Given the description of an element on the screen output the (x, y) to click on. 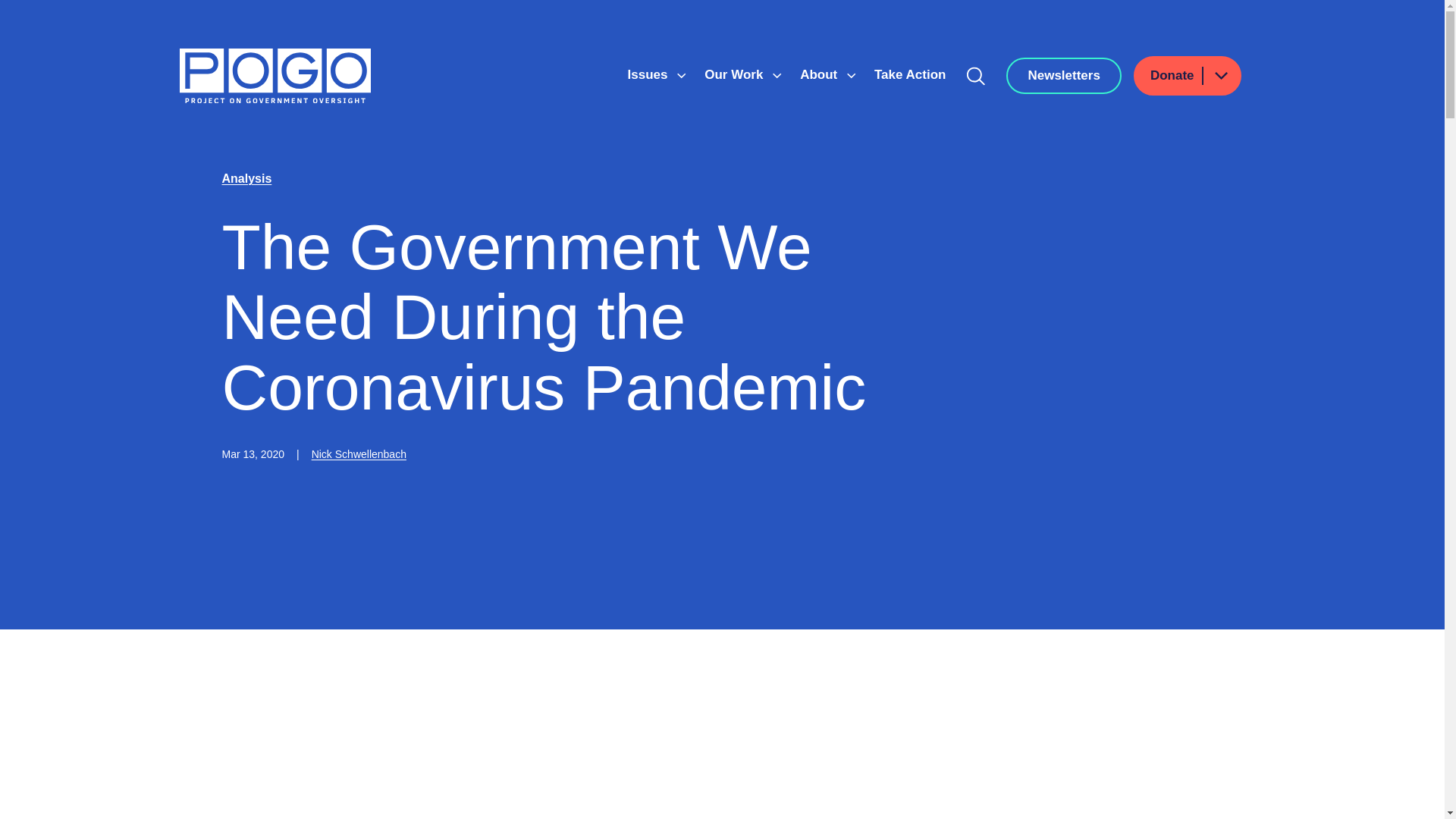
Show submenu for Issues (681, 75)
Take Action (909, 74)
Newsletters (1063, 75)
Our Work (735, 74)
Show submenu for Donate (1220, 75)
Donate (1187, 75)
Show submenu for About (851, 75)
Home (274, 75)
Issues (649, 74)
About (820, 74)
